Given the description of an element on the screen output the (x, y) to click on. 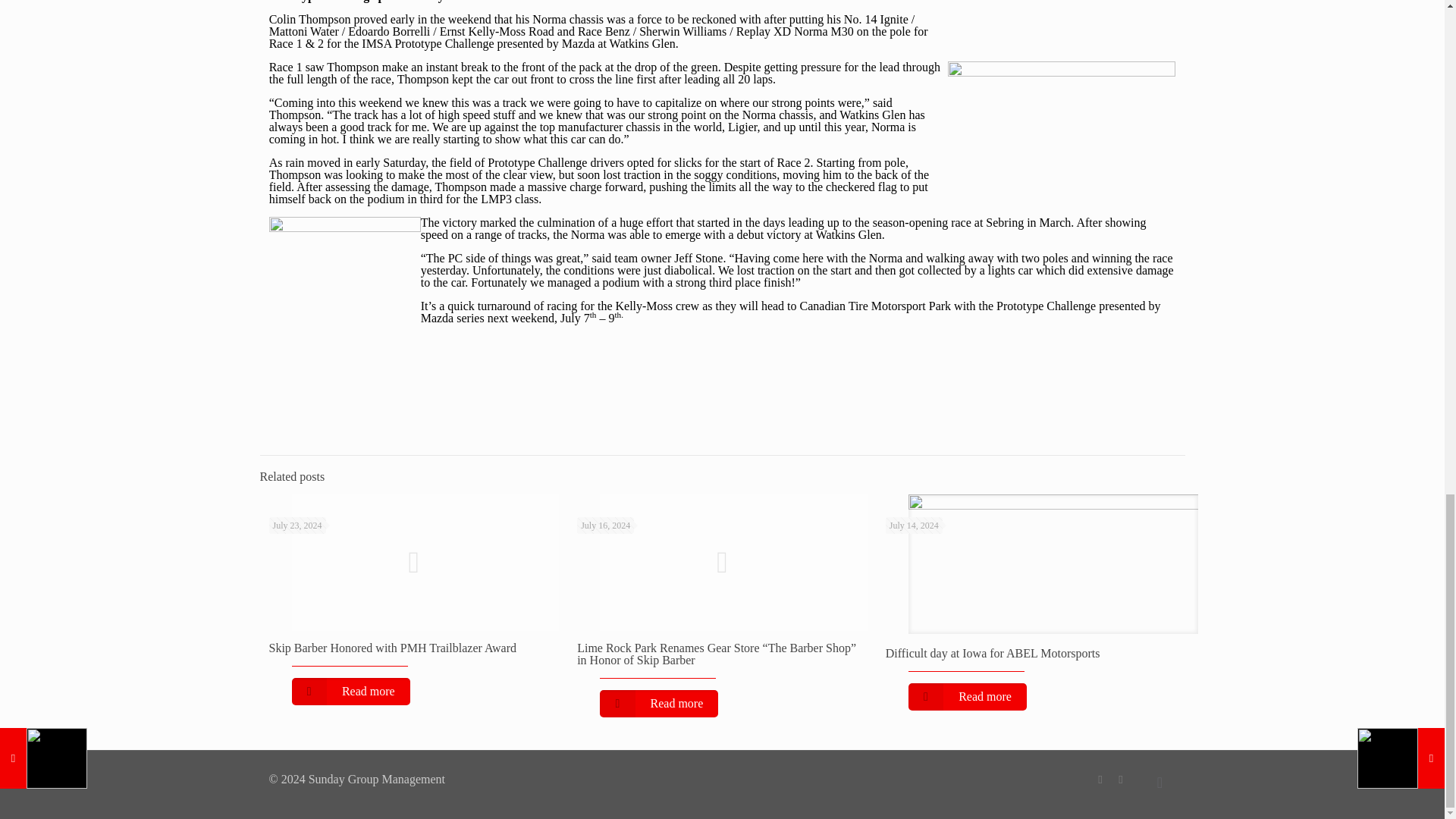
Facebook (1100, 779)
Read more (658, 703)
Read more (350, 691)
Read more (967, 696)
Twitter (1121, 779)
Skip Barber Honored with PMH Trailblazer Award (391, 647)
Difficult day at Iowa for ABEL Motorsports (992, 653)
